Given the description of an element on the screen output the (x, y) to click on. 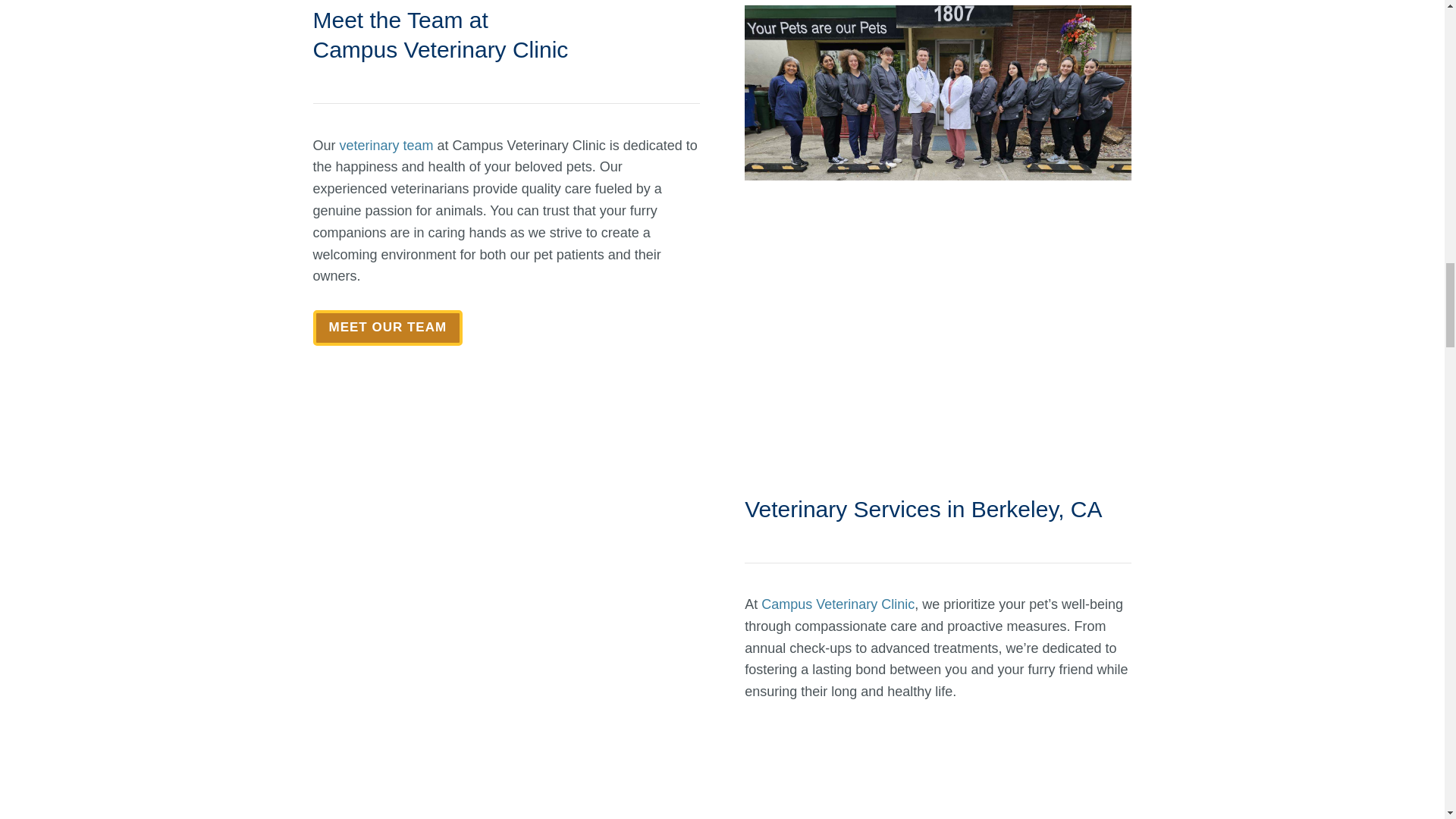
Campus Staff pic UPDATED LANDING 7.2024 (937, 92)
